Given the description of an element on the screen output the (x, y) to click on. 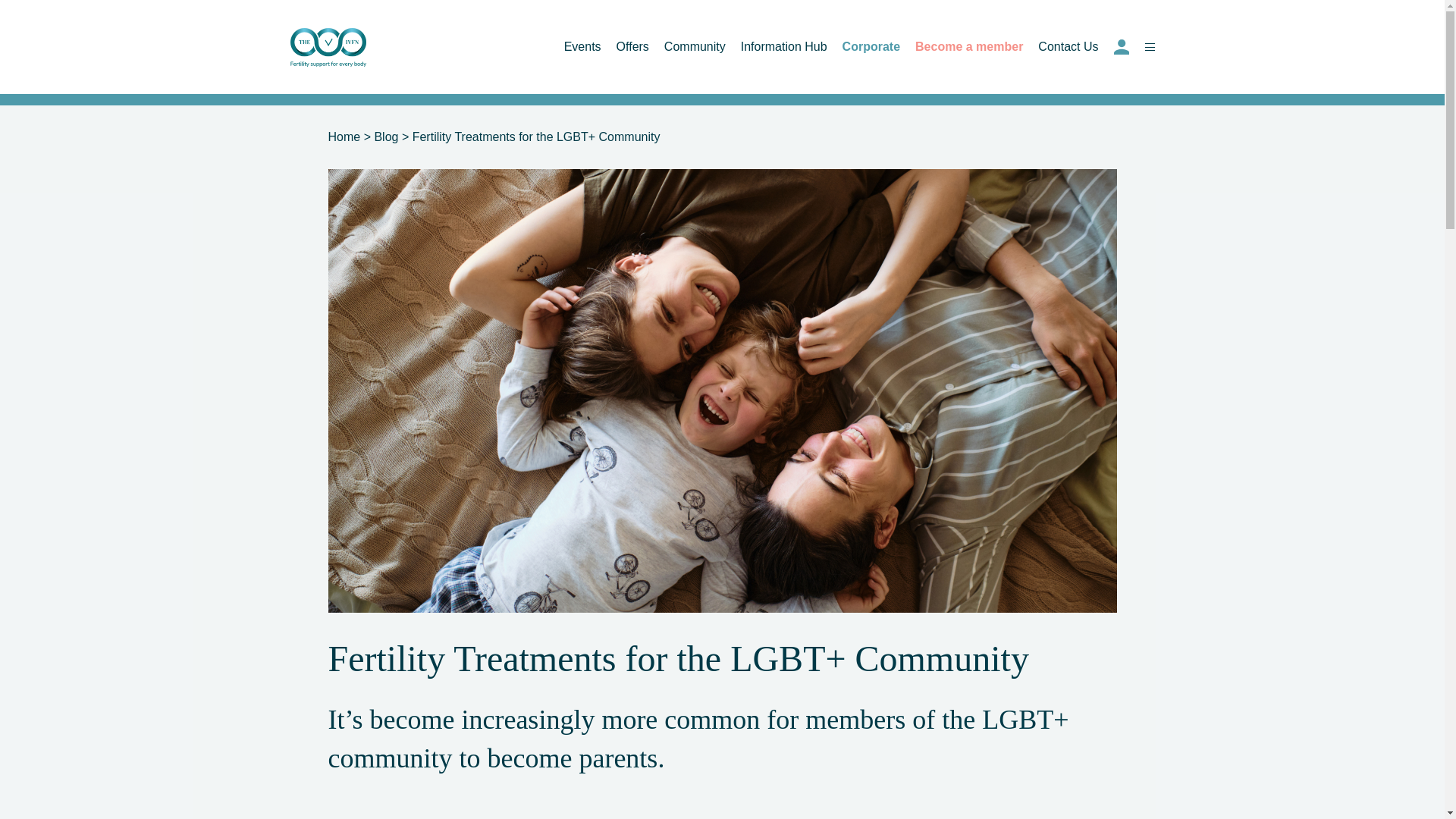
Community (694, 46)
Blog (385, 136)
Contact Us (1067, 46)
Log In (1121, 47)
Offers (632, 46)
Become a member (969, 46)
Events (582, 46)
Corporate (871, 46)
Information Hub (784, 46)
Home (343, 136)
IVFN (327, 46)
